Given the description of an element on the screen output the (x, y) to click on. 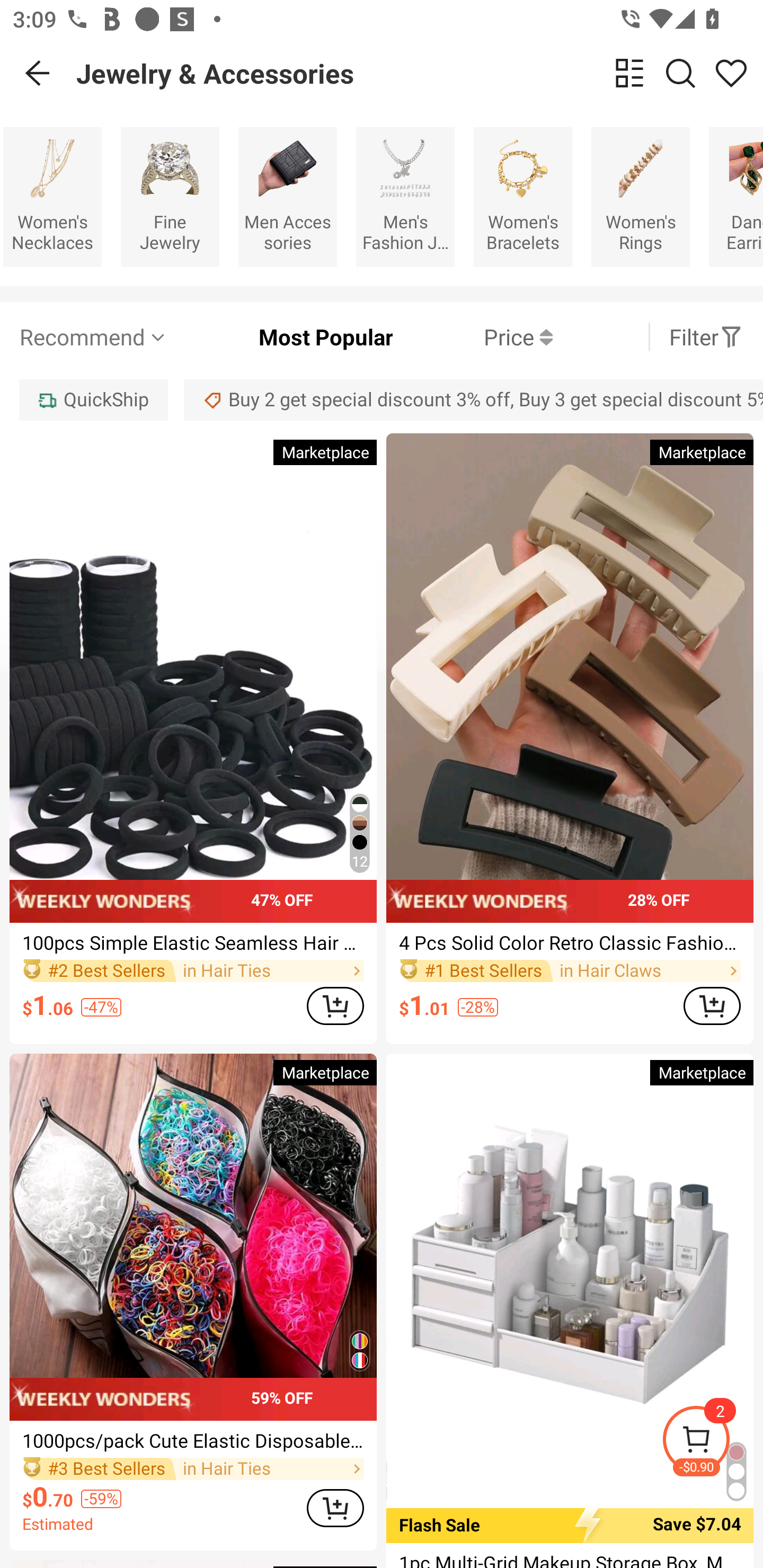
Jewelry & Accessories change view Search Share (419, 72)
change view (629, 72)
Search (679, 72)
Share (730, 72)
Women's Necklaces (52, 196)
Fine Jewelry (169, 196)
Men Accessories (287, 196)
Men's Fashion Jewelry (405, 196)
Women's Bracelets (522, 196)
Women's Rings (640, 196)
Dangle Earrings (735, 196)
Recommend (93, 336)
Most Popular (280, 336)
Price (472, 336)
Filter (705, 336)
QuickShip (93, 399)
#2 Best Sellers in Hair Ties (192, 970)
#1 Best Sellers in Hair Claws (569, 970)
ADD TO CART (334, 1005)
ADD TO CART (711, 1005)
-$0.90 (712, 1441)
#3 Best Sellers in Hair Ties (192, 1468)
ADD TO CART (334, 1508)
